Given the description of an element on the screen output the (x, y) to click on. 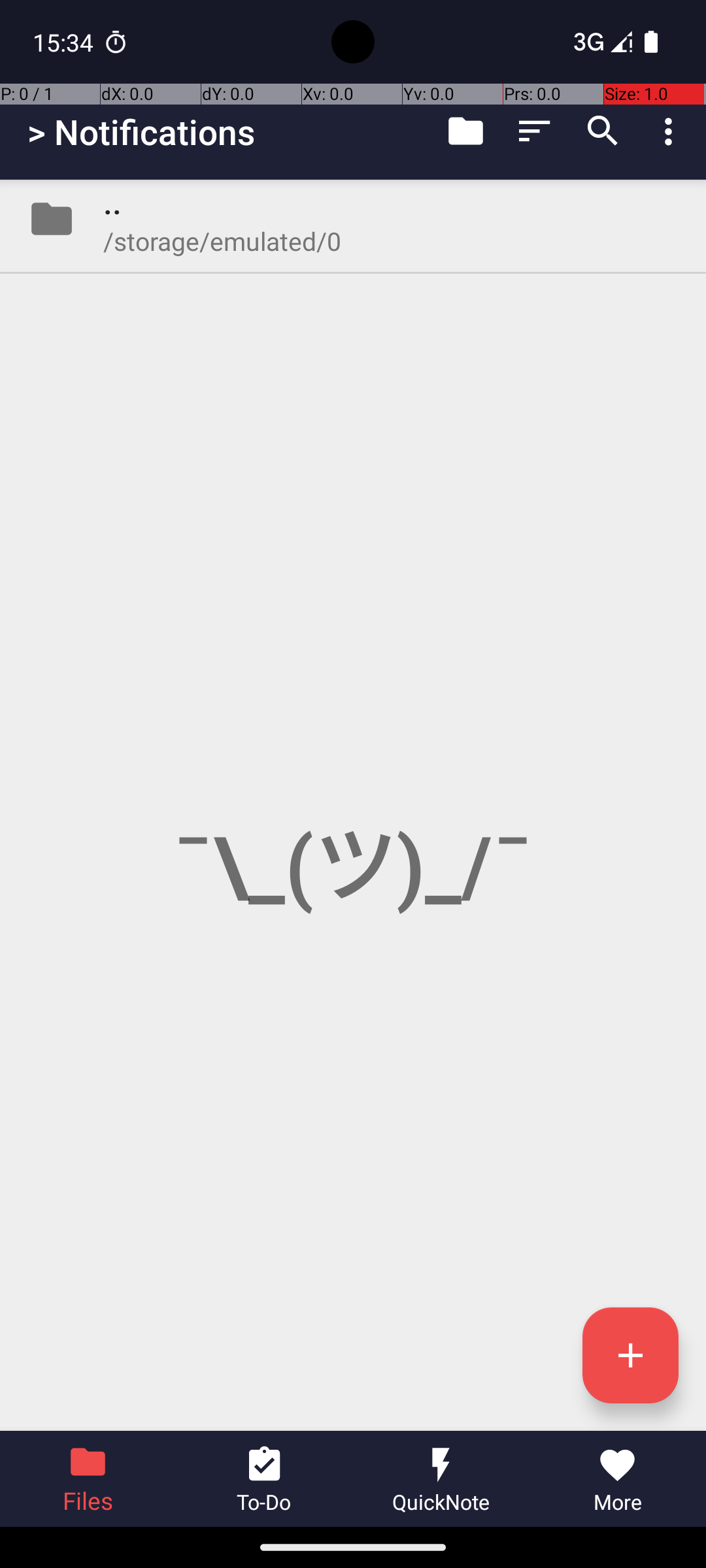
> Notifications Element type: android.widget.TextView (140, 131)
